Given the description of an element on the screen output the (x, y) to click on. 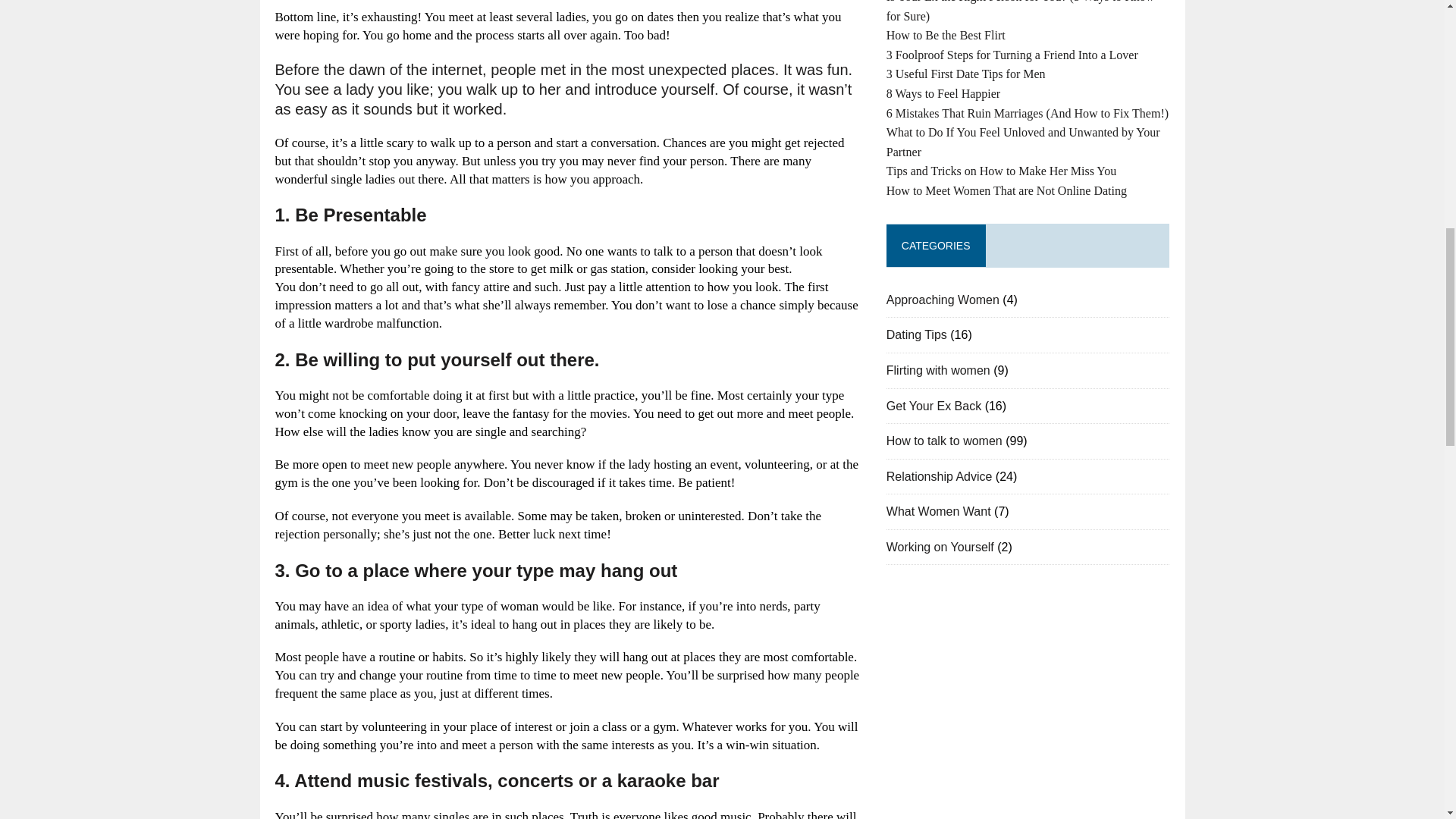
8 Ways to Feel Happier (943, 92)
Dating Tips (916, 334)
Flirting with women (938, 369)
3 Useful First Date Tips for Men (965, 73)
Approaching Women (942, 299)
Tips and Tricks on How to Make Her Miss You (1001, 170)
How to Meet Women That are Not Online Dating (1006, 190)
Get Your Ex Back (933, 405)
How to talk to women (944, 440)
How to Be the Best Flirt (946, 34)
Working on Yourself (940, 546)
What Women Want (938, 511)
3 Foolproof Steps for Turning a Friend Into a Lover (1012, 54)
Relationship Advice (939, 476)
What to Do If You Feel Unloved and Unwanted by Your Partner (1023, 142)
